Given the description of an element on the screen output the (x, y) to click on. 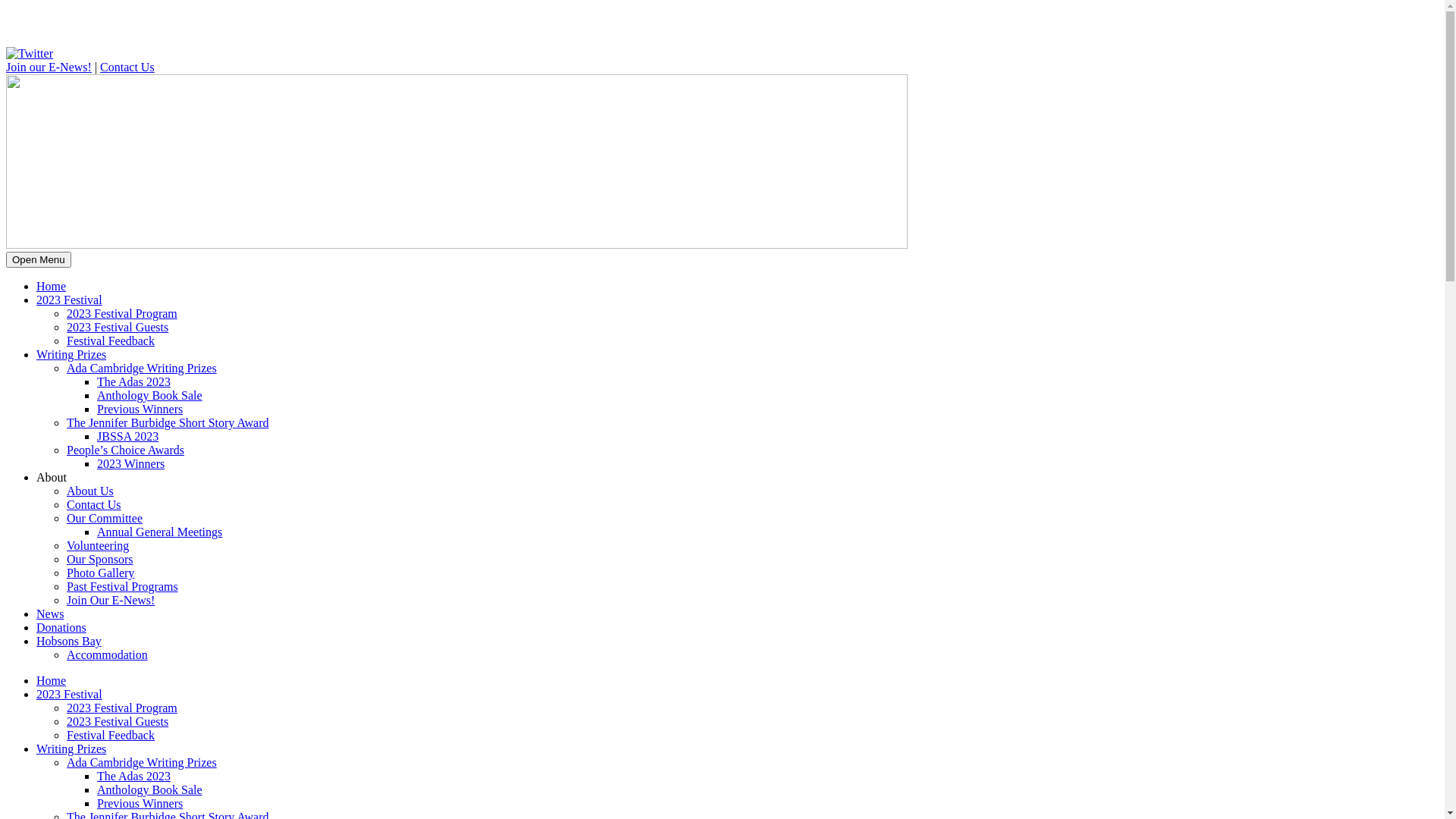
Home Element type: text (50, 680)
JBSSA 2023 Element type: text (127, 435)
Contact Us Element type: text (93, 504)
Photo Gallery Element type: text (100, 572)
Our Committee Element type: text (104, 517)
2023 Festival Program Element type: text (121, 707)
2023 Winners Element type: text (130, 463)
The Jennifer Burbidge Short Story Award Element type: text (167, 422)
Contact Us Element type: text (127, 66)
Volunteering Element type: text (97, 545)
Open Menu Element type: text (38, 259)
Previous Winners Element type: text (139, 408)
Past Festival Programs Element type: text (122, 586)
Ada Cambridge Writing Prizes Element type: text (141, 367)
Writing Prizes Element type: text (71, 354)
Festival Feedback Element type: text (110, 734)
2023 Festival Guests Element type: text (117, 326)
Writing Prizes Element type: text (71, 748)
Join our E-News! Element type: text (48, 66)
2023 Festival Element type: text (69, 299)
The Adas 2023 Element type: text (133, 775)
News Element type: text (49, 613)
Annual General Meetings Element type: text (159, 531)
2023 Festival Element type: text (69, 693)
Anthology Book Sale Element type: text (149, 395)
The Adas 2023 Element type: text (133, 381)
2023 Festival Program Element type: text (121, 313)
Ada Cambridge Writing Prizes Element type: text (141, 762)
Home Element type: text (50, 285)
Join Our E-News! Element type: text (110, 599)
Hobsons Bay Element type: text (68, 640)
Anthology Book Sale Element type: text (149, 789)
2023 Festival Guests Element type: text (117, 721)
Accommodation Element type: text (106, 654)
About Us Element type: text (89, 490)
Our Sponsors Element type: text (99, 558)
About Element type: text (51, 476)
Donations Element type: text (61, 627)
Festival Feedback Element type: text (110, 340)
Previous Winners Element type: text (139, 803)
